Given the description of an element on the screen output the (x, y) to click on. 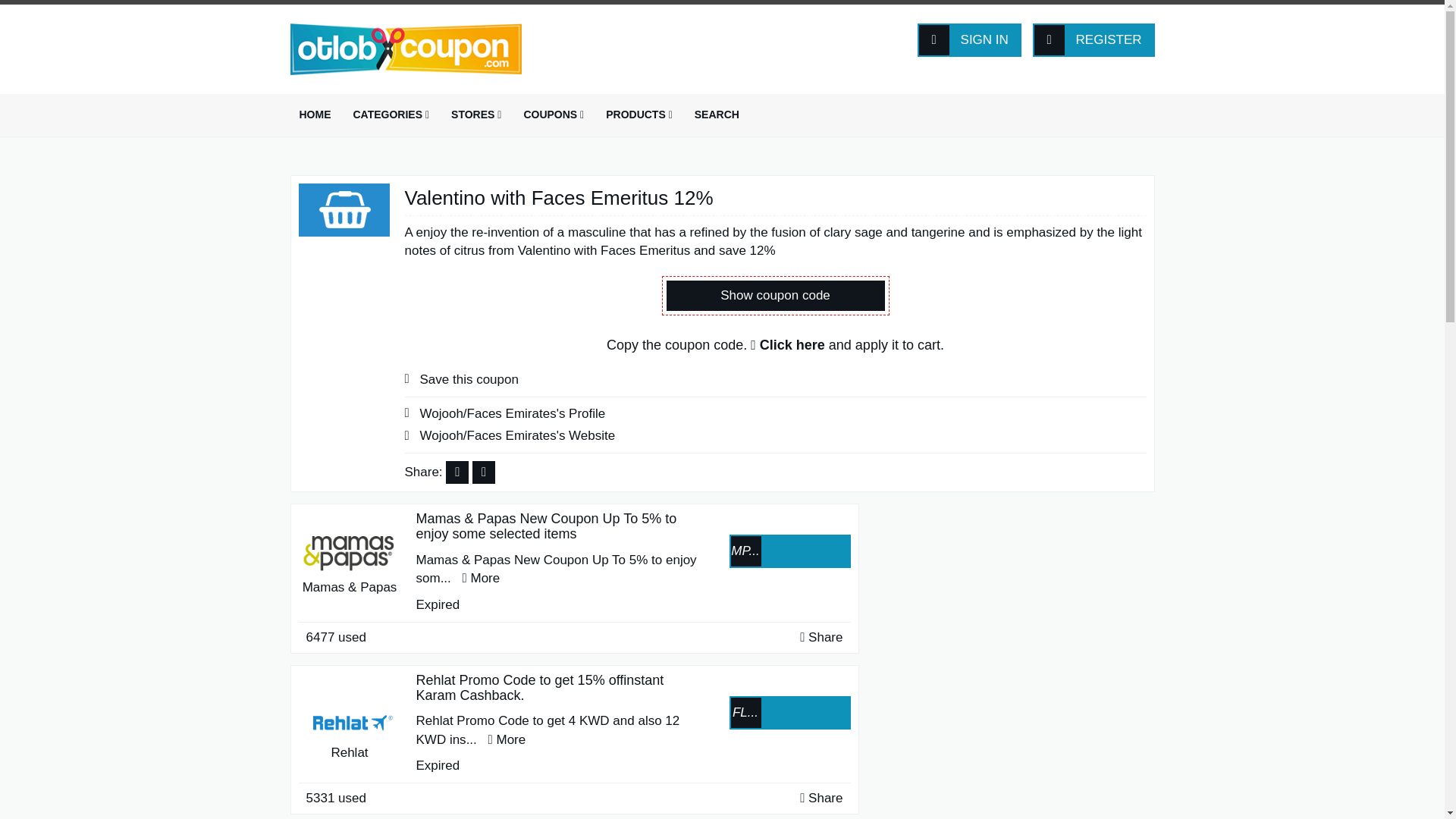
HOME (314, 114)
REGISTER (1093, 39)
SIGN IN (969, 39)
